Given the description of an element on the screen output the (x, y) to click on. 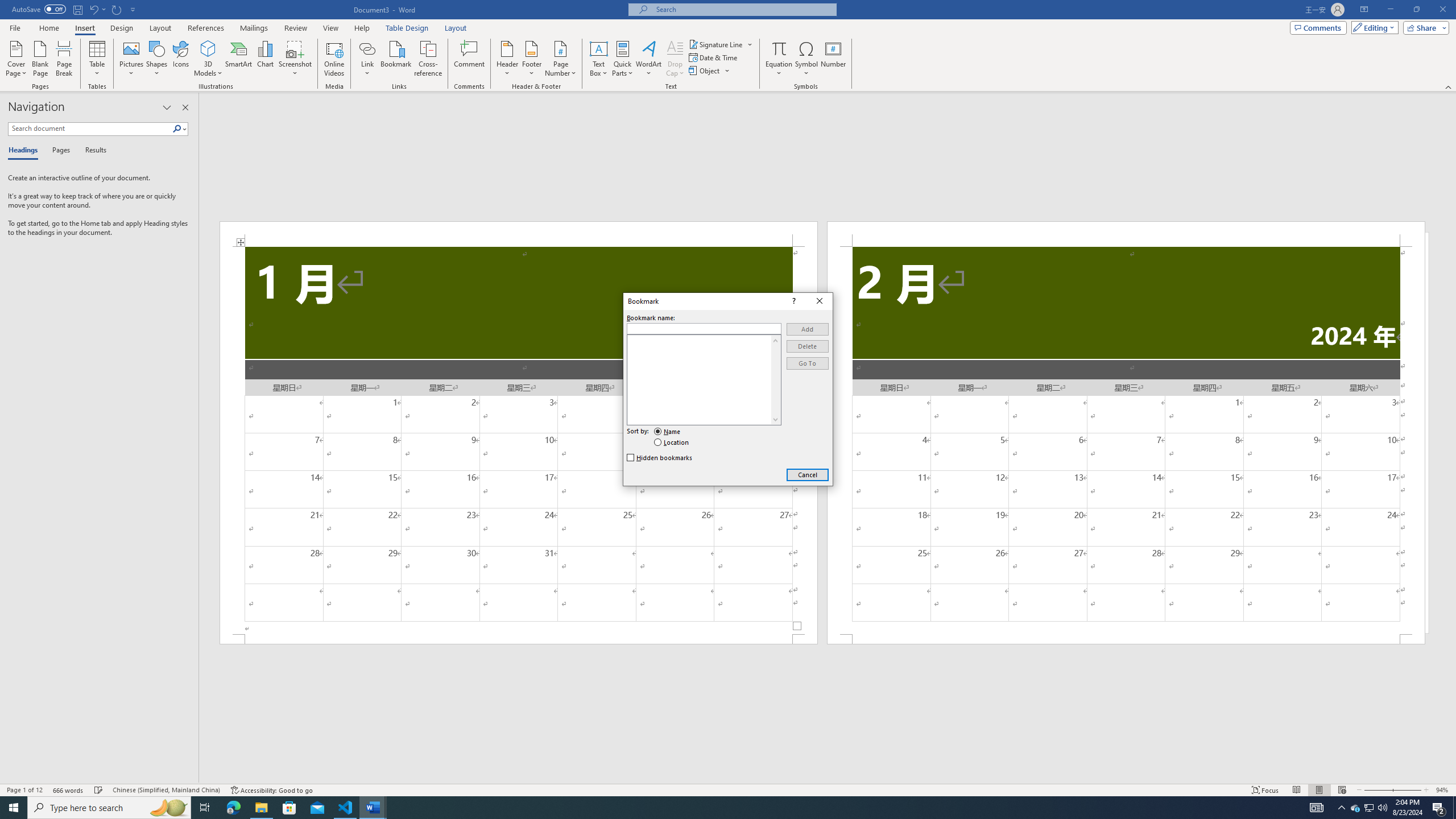
Table (97, 58)
Show desktop (1454, 807)
Search document (89, 128)
Collapse the Ribbon (1448, 86)
Running applications (717, 807)
